Given the description of an element on the screen output the (x, y) to click on. 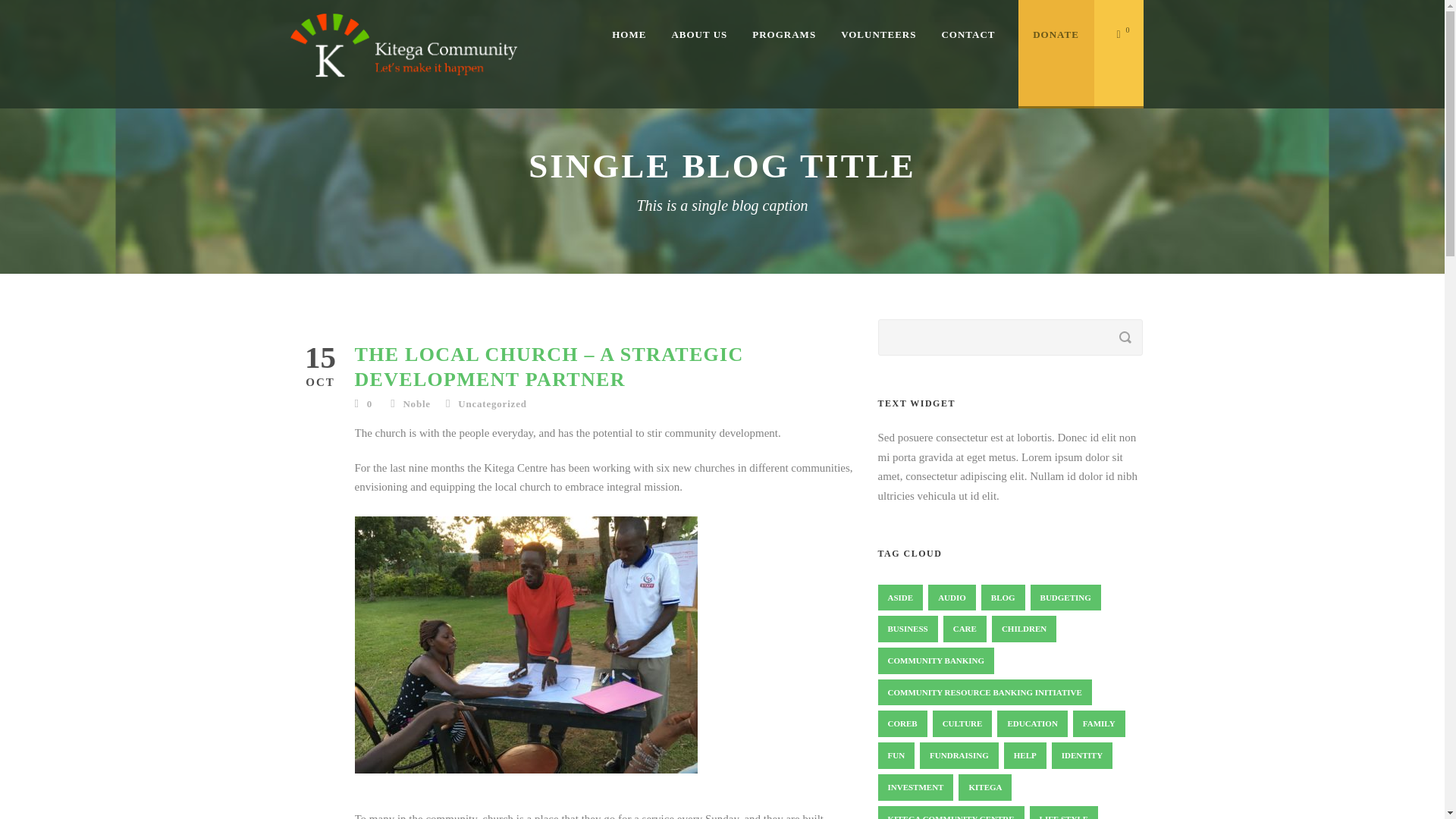
HOME (641, 47)
ABOUT US (711, 47)
PROGRAMS (796, 47)
Posts by Noble (416, 403)
VOLUNTEERS (890, 47)
